Given the description of an element on the screen output the (x, y) to click on. 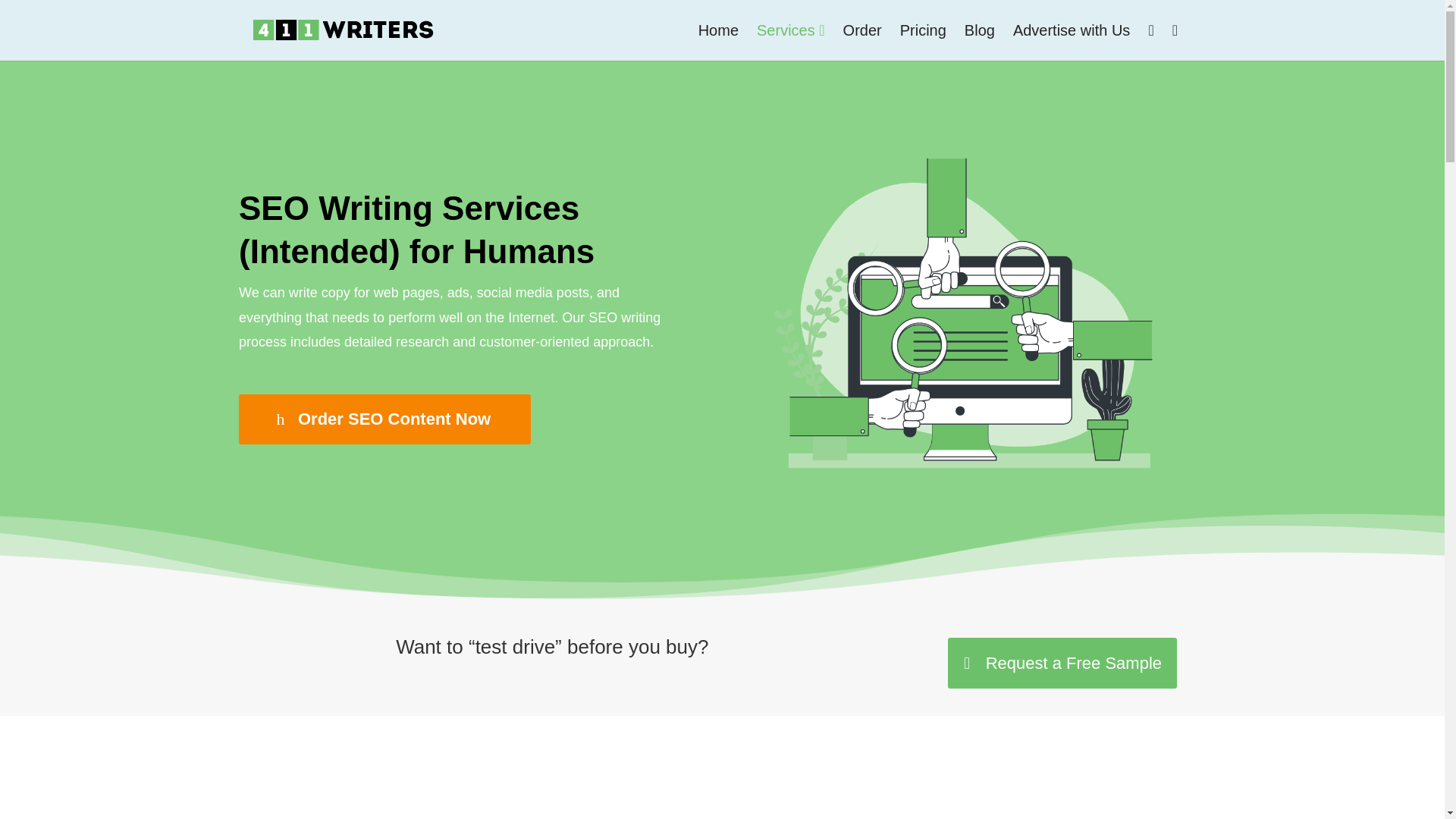
Order SEO Content Now (384, 419)
411Writers (718, 30)
Request a Free Sample (1061, 663)
Advertise with Us (1072, 30)
Home (718, 30)
Services (791, 30)
Blog (979, 30)
411Writers Blog (979, 30)
Order (862, 30)
Services Pricing (923, 30)
Services Offered by 411Writers (791, 30)
Pricing (923, 30)
Let Us Write a Story About Your Business (1072, 30)
